Given the description of an element on the screen output the (x, y) to click on. 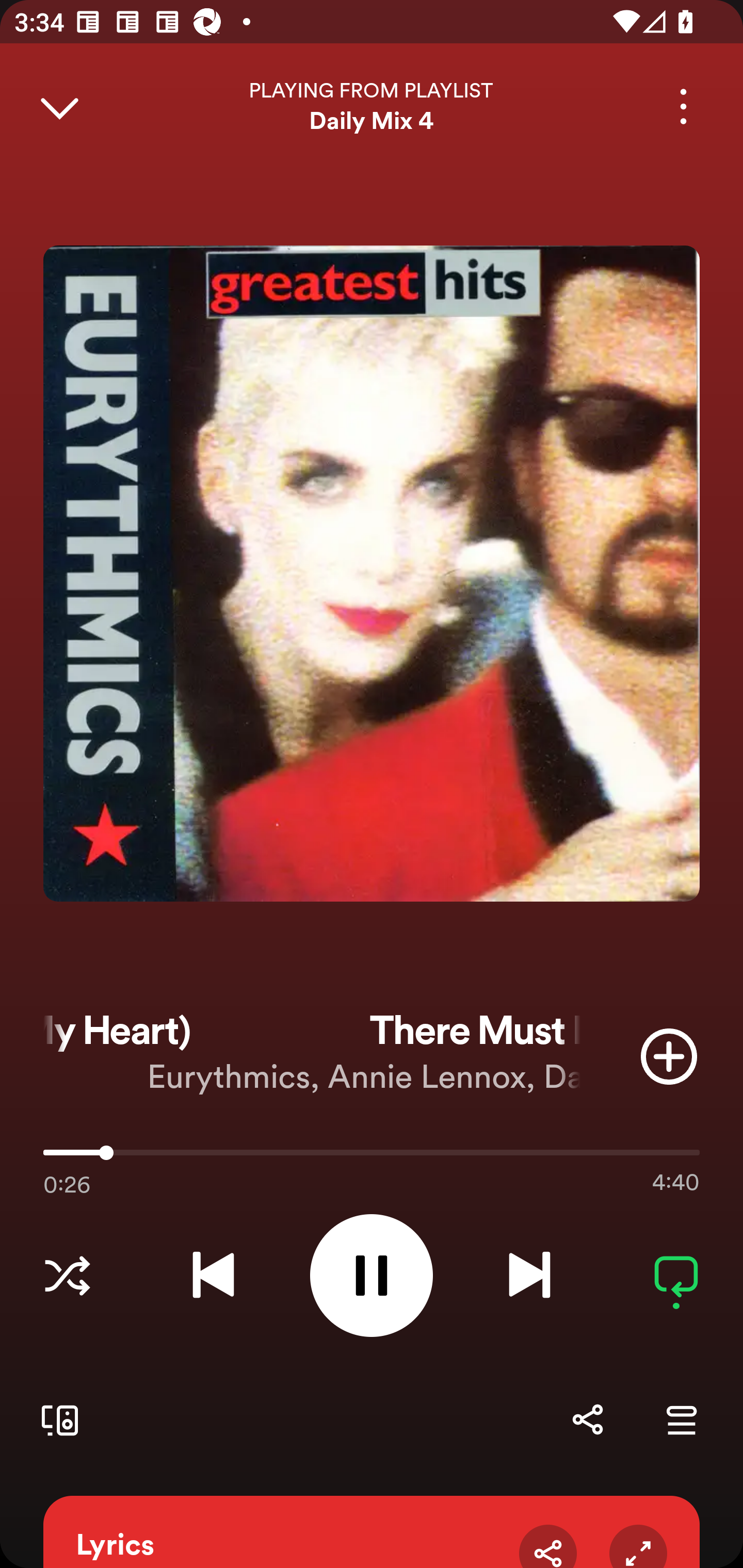
Close (59, 106)
PLAYING FROM PLAYLIST Daily Mix 4 (371, 106)
Add item (669, 1056)
0:26 4:40 26804.0 Use volume keys to adjust (371, 1157)
Pause (371, 1275)
Previous (212, 1275)
Next (529, 1275)
Choose a Listening Mode (66, 1275)
Repeat (676, 1275)
Share (587, 1419)
Go to Queue (681, 1419)
Connect to a device. Opens the devices menu (55, 1419)
Lyrics Share Expand (371, 1531)
Share (547, 1546)
Expand (638, 1546)
